Given the description of an element on the screen output the (x, y) to click on. 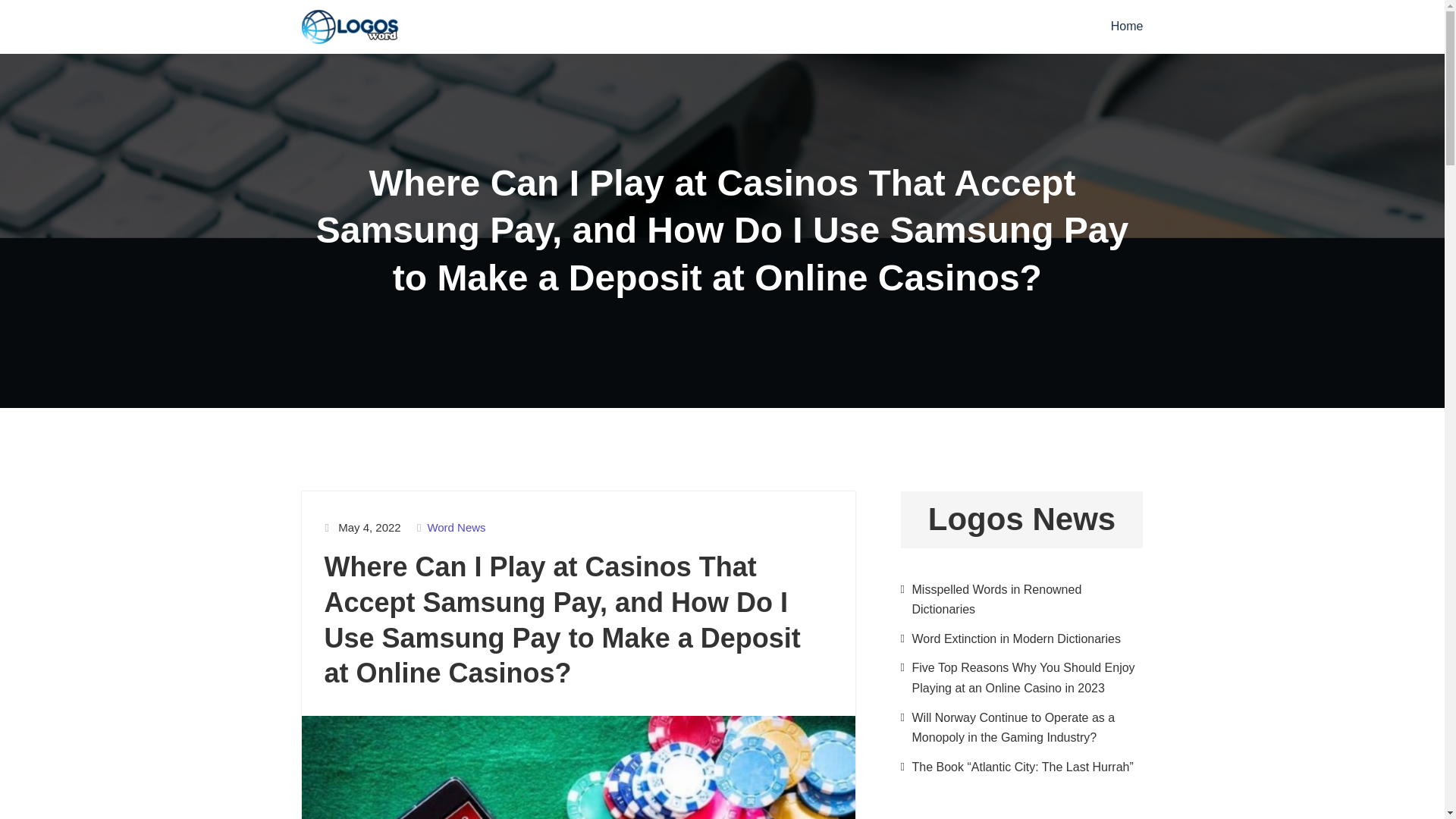
Misspelled Words in Renowned Dictionaries (996, 599)
Home (1126, 27)
Word News (455, 527)
May 4, 2022 (369, 527)
Word Extinction in Modern Dictionaries (1015, 638)
